Given the description of an element on the screen output the (x, y) to click on. 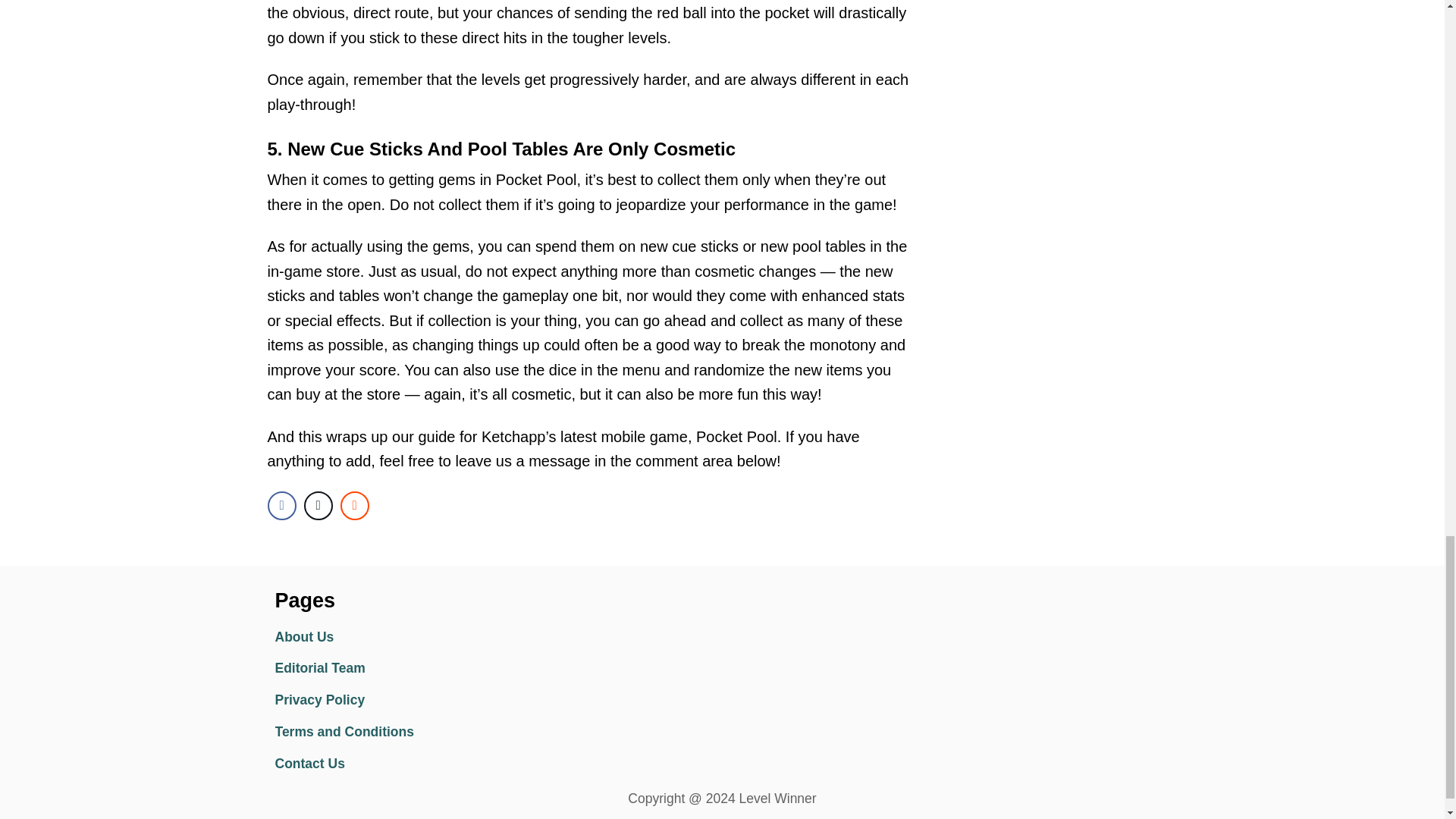
Editorial Team (406, 668)
Privacy Policy (406, 700)
Contact Us (406, 764)
Terms and Conditions (406, 732)
About Us (406, 637)
